Given the description of an element on the screen output the (x, y) to click on. 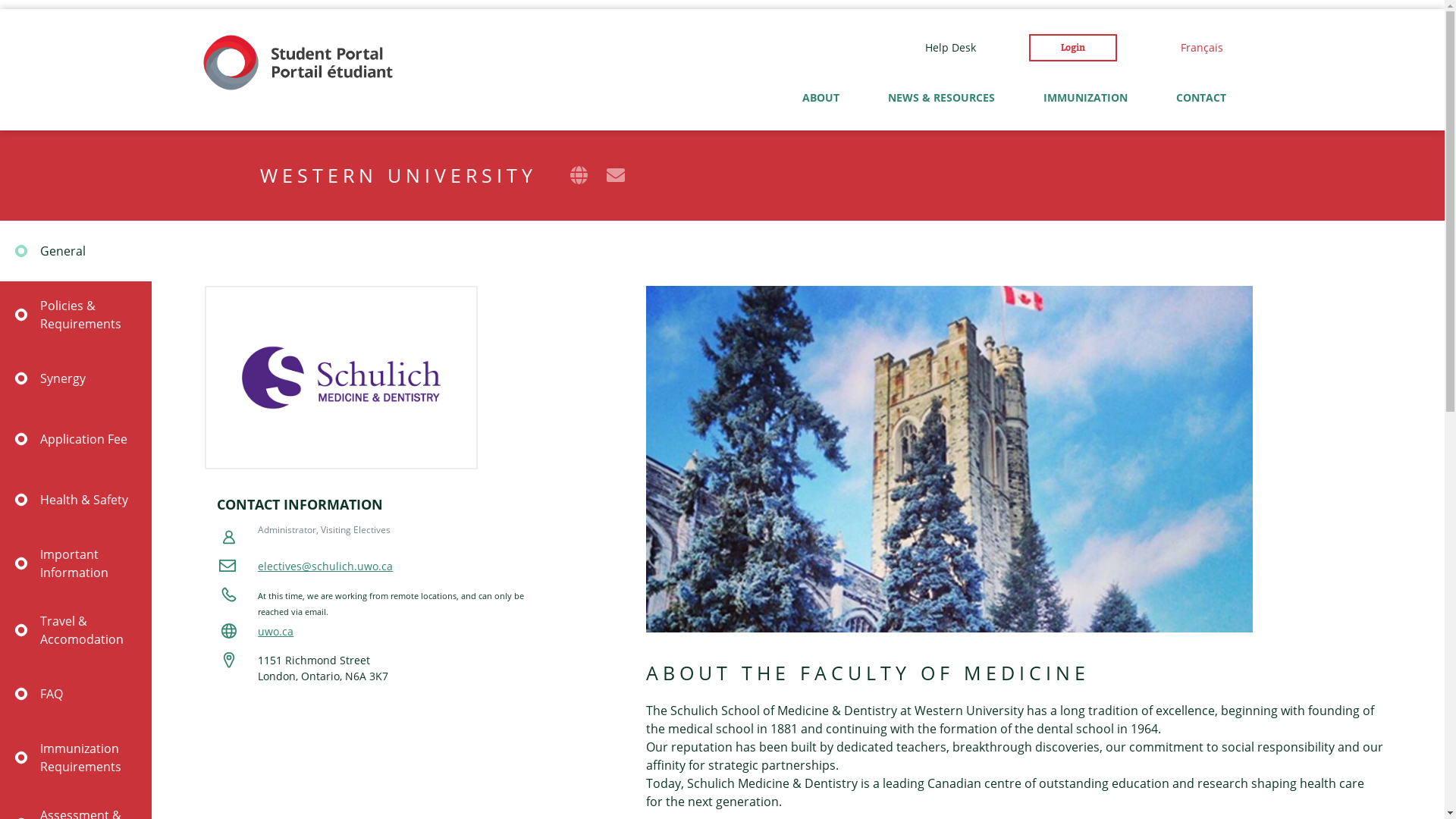
uwo.ca Element type: text (275, 631)
ABOUT Element type: text (820, 97)
Help Desk Element type: text (950, 47)
AN INITIATIVE OF Element type: text (313, 14)
Login Element type: text (1072, 47)
ABOUT Element type: text (815, 36)
NEWS & RESOURCES Element type: text (940, 97)
IMMUNIZATION Element type: text (1079, 36)
IMMUNIZATION Element type: text (1085, 97)
NEWS & RESOURCES Element type: text (935, 36)
electives@schulich.uwo.ca Element type: text (324, 565)
CONTACT Element type: text (1195, 36)
CONTACT Element type: text (1200, 97)
